Given the description of an element on the screen output the (x, y) to click on. 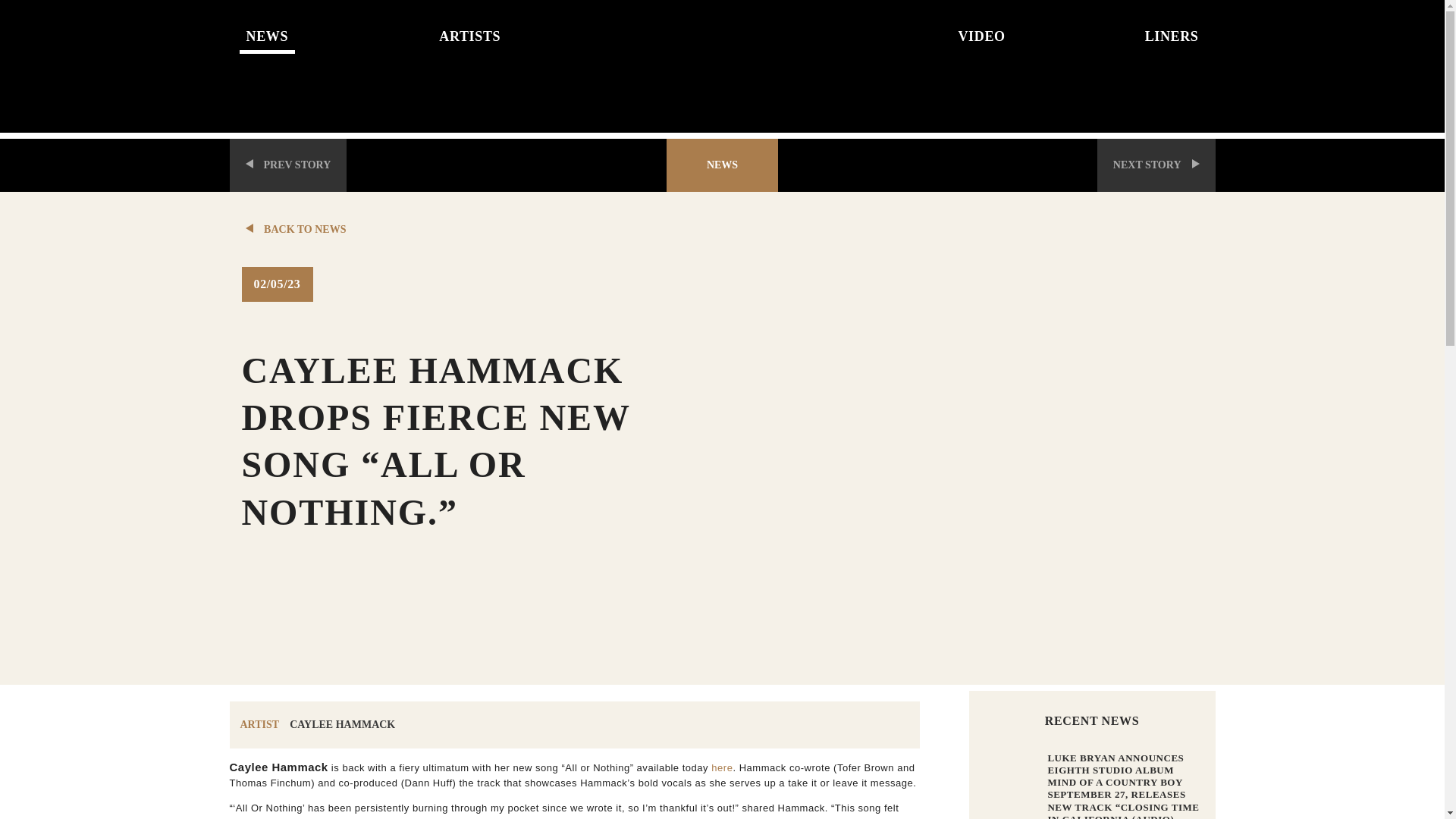
ARTISTS (529, 30)
LINERS (1108, 30)
NEXT STORY (1156, 164)
CAYLEE HAMMACK (341, 724)
PREV STORY (287, 164)
here (721, 767)
BACK TO NEWS (475, 229)
NEWS (336, 30)
VIDEO (914, 30)
